Given the description of an element on the screen output the (x, y) to click on. 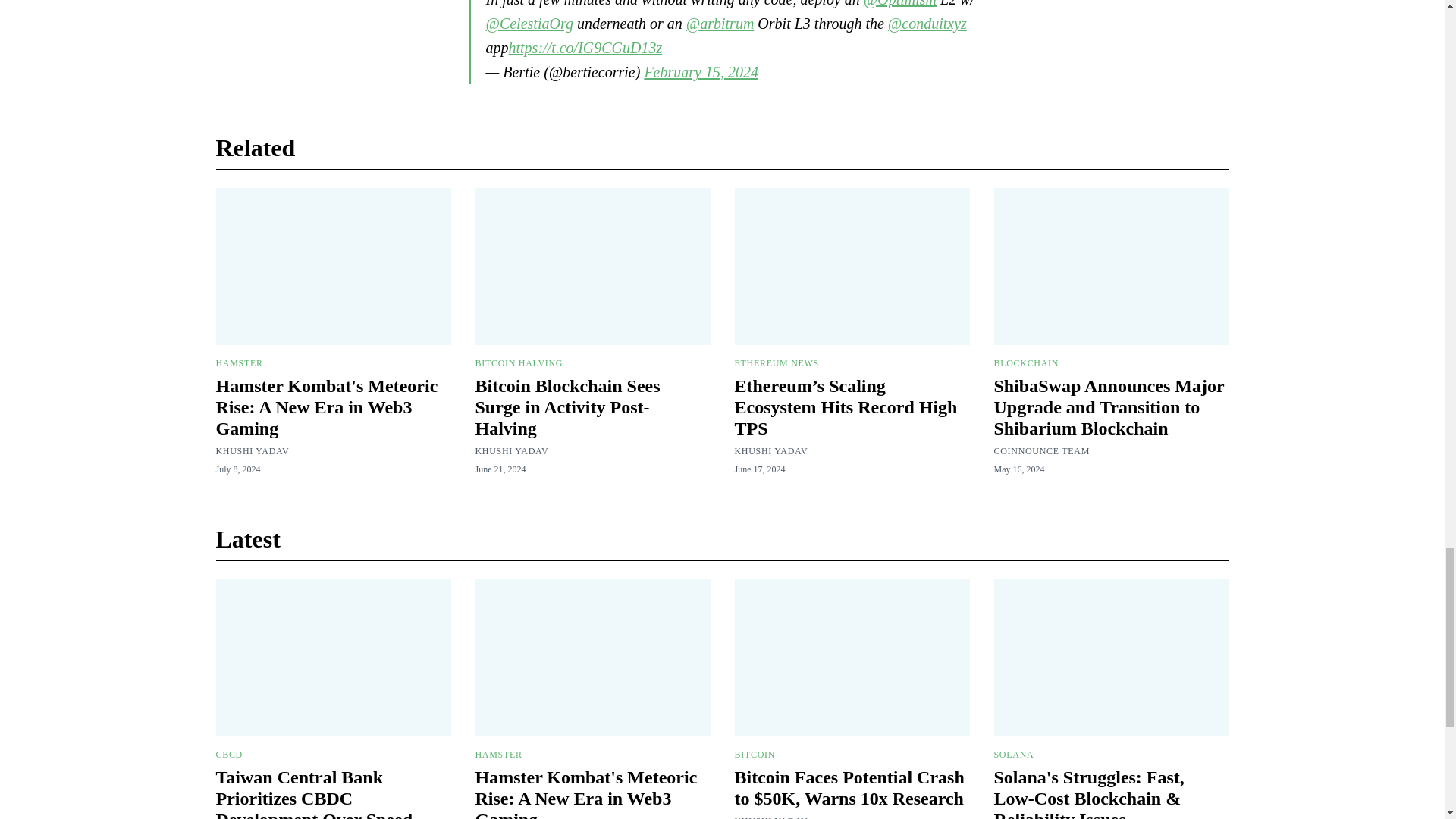
KHUSHI YADAV (511, 451)
ETHEREUM NEWS (775, 362)
February 15, 2024 (700, 71)
KHUSHI YADAV (770, 451)
Hamster Kombat's Meteoric Rise: A New Era in Web3 Gaming (326, 406)
BITCOIN HALVING (518, 362)
HAMSTER (238, 362)
KHUSHI YADAV (251, 451)
BLOCKCHAIN (1025, 362)
Bitcoin Blockchain Sees Surge in Activity Post-Halving (566, 406)
